Given the description of an element on the screen output the (x, y) to click on. 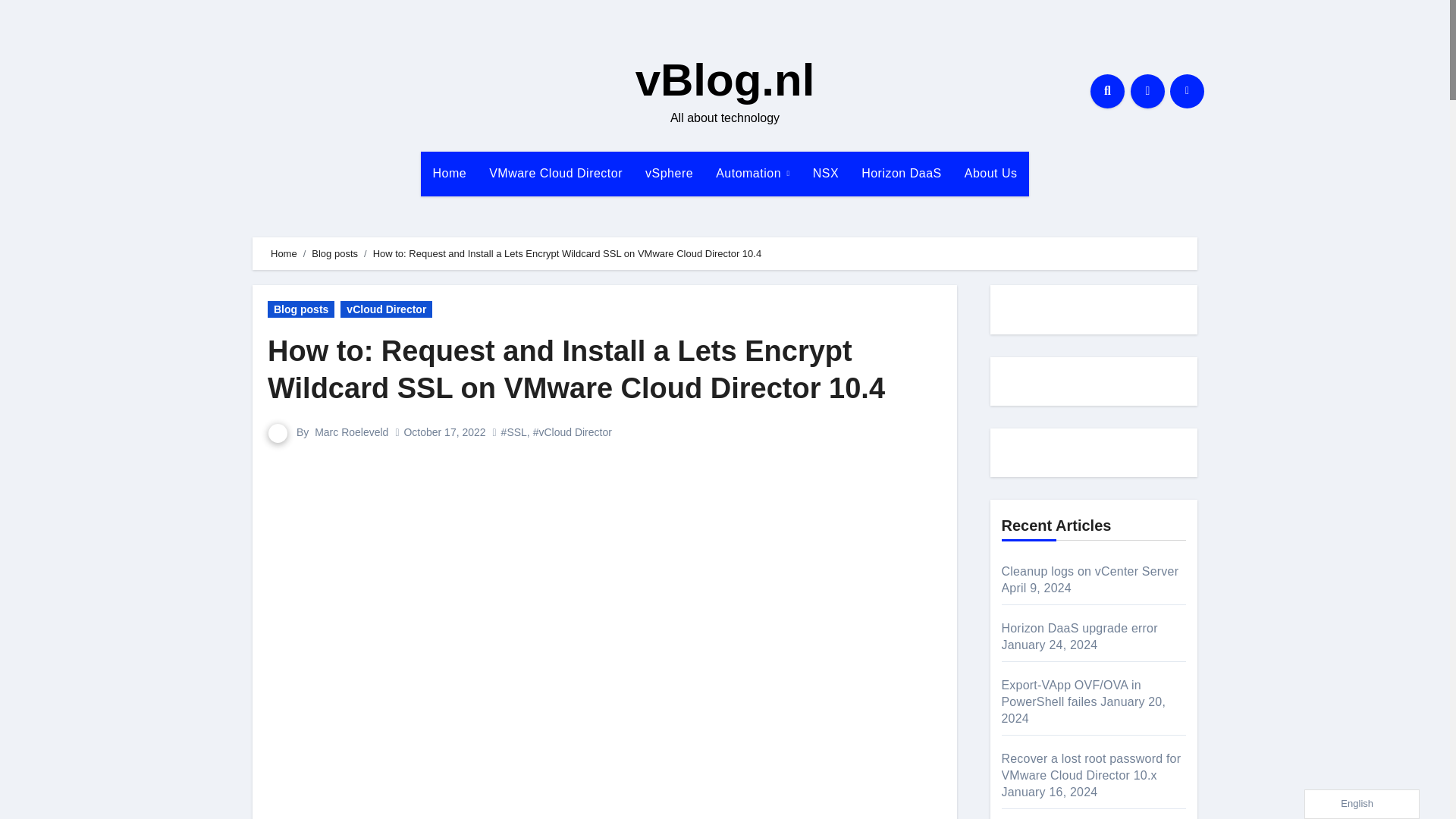
vSphere (668, 173)
About Us (991, 173)
Home (448, 173)
Automation (753, 173)
vBlog.nl (724, 79)
Horizon DaaS (901, 173)
VMware Cloud Director (555, 173)
Automation (753, 173)
Horizon DaaS (901, 173)
Blog posts (300, 309)
vSphere (668, 173)
VMware Cloud Director (555, 173)
Marc Roeleveld (351, 431)
NSX (826, 173)
About Us (991, 173)
